Given the description of an element on the screen output the (x, y) to click on. 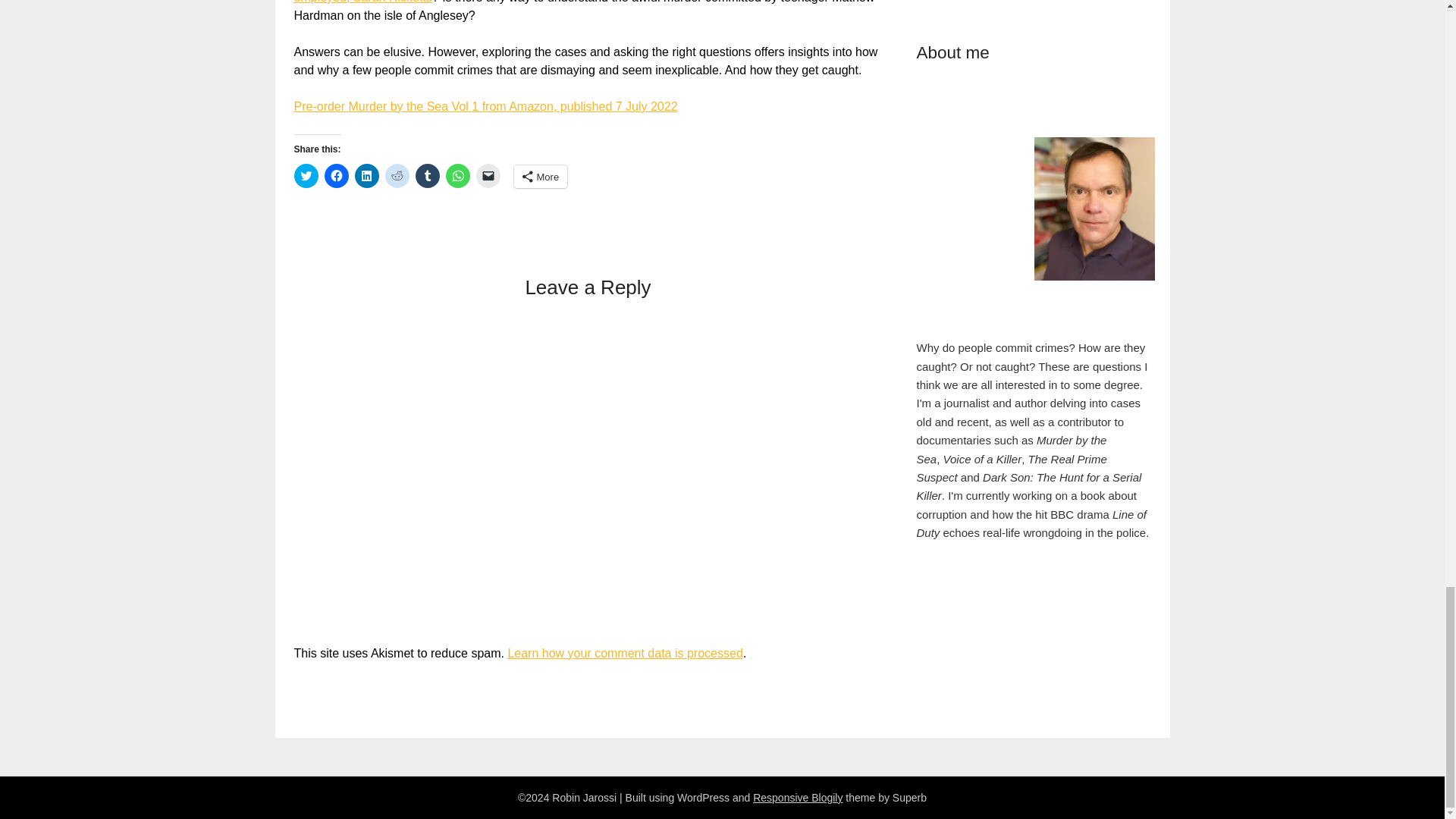
Click to share on Reddit (618, 6)
View all posts in Murder by the Sea (670, 63)
Click to share on Tumblr (639, 6)
View all posts in Uncategorized (870, 63)
Click to email a link to a friend (683, 6)
View all posts in True crime books (775, 63)
More (726, 6)
Click to share on LinkedIn (596, 6)
Uncategorized (870, 63)
Click to share on Facebook (575, 6)
Murder by the Sea: The Mochries (662, 167)
Murder by the Sea (670, 63)
True crime books (775, 63)
Click to share on WhatsApp (661, 6)
